Given the description of an element on the screen output the (x, y) to click on. 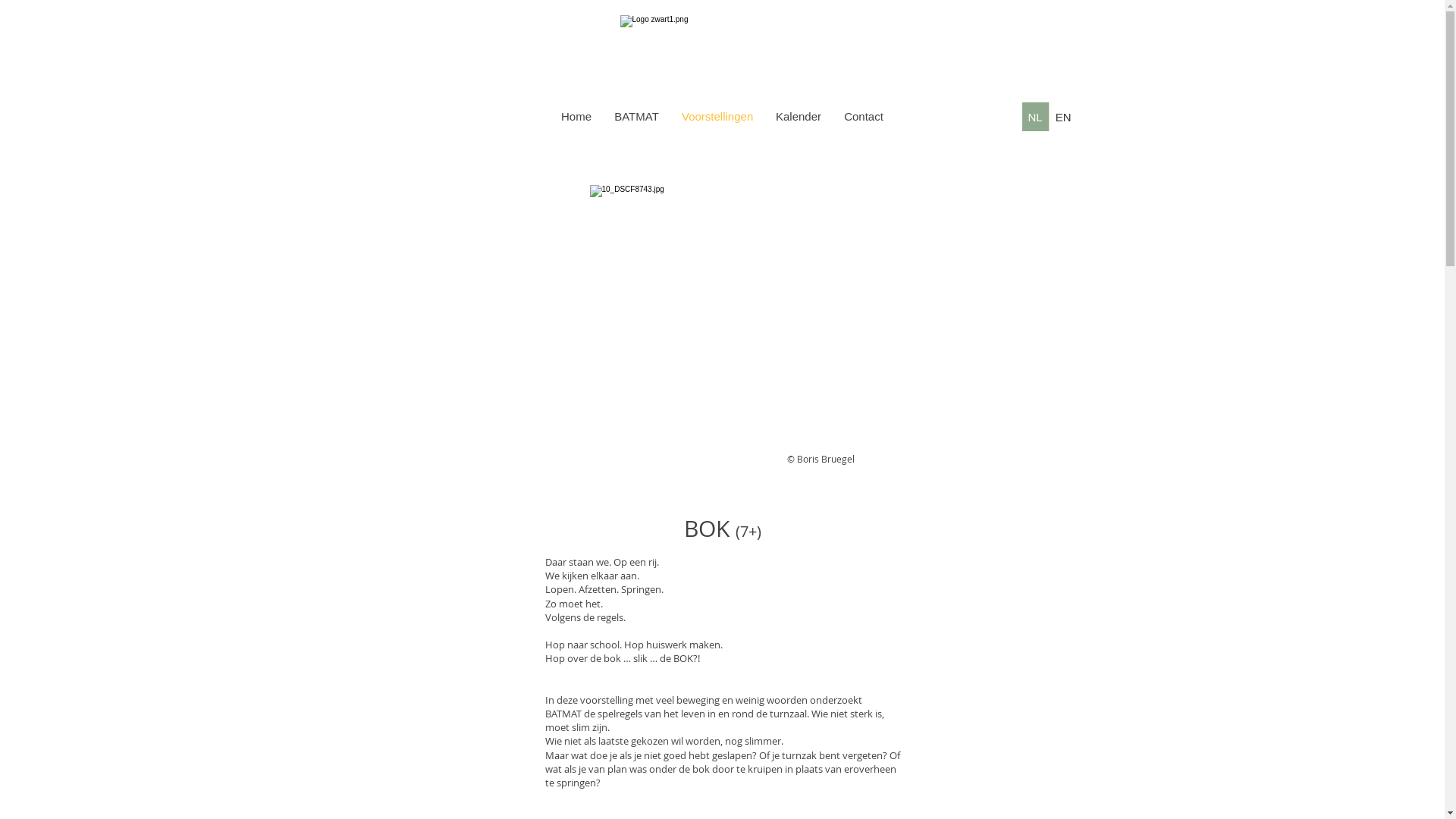
Kalender Element type: text (798, 116)
BATMAT Element type: text (636, 116)
Contact Element type: text (863, 116)
NL Element type: text (1035, 116)
EN Element type: text (1062, 116)
Voorstellingen Element type: text (717, 116)
Home Element type: text (575, 116)
